Given the description of an element on the screen output the (x, y) to click on. 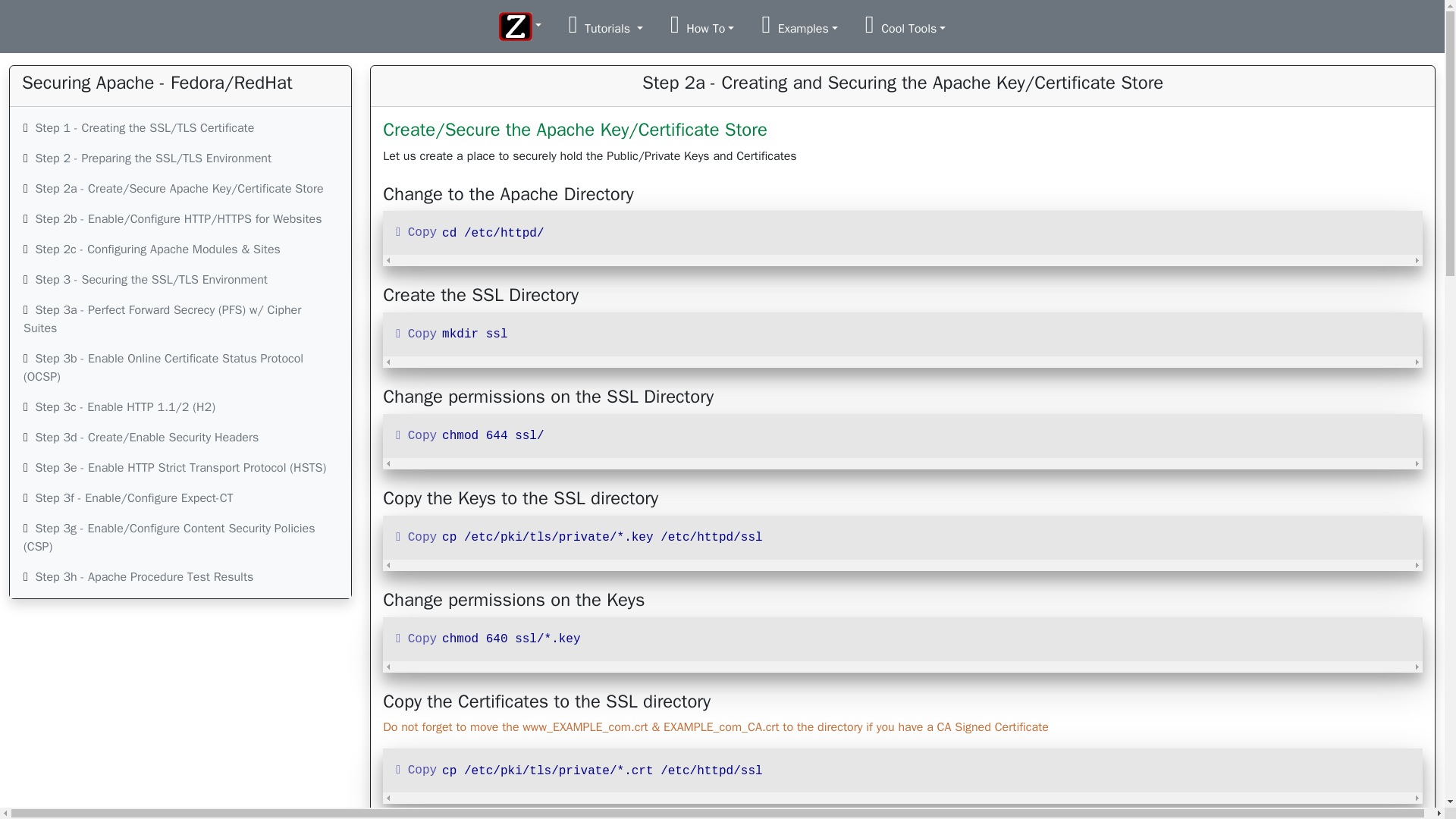
 Tutorials (605, 24)
 How To (702, 24)
 Examples (799, 24)
